Given the description of an element on the screen output the (x, y) to click on. 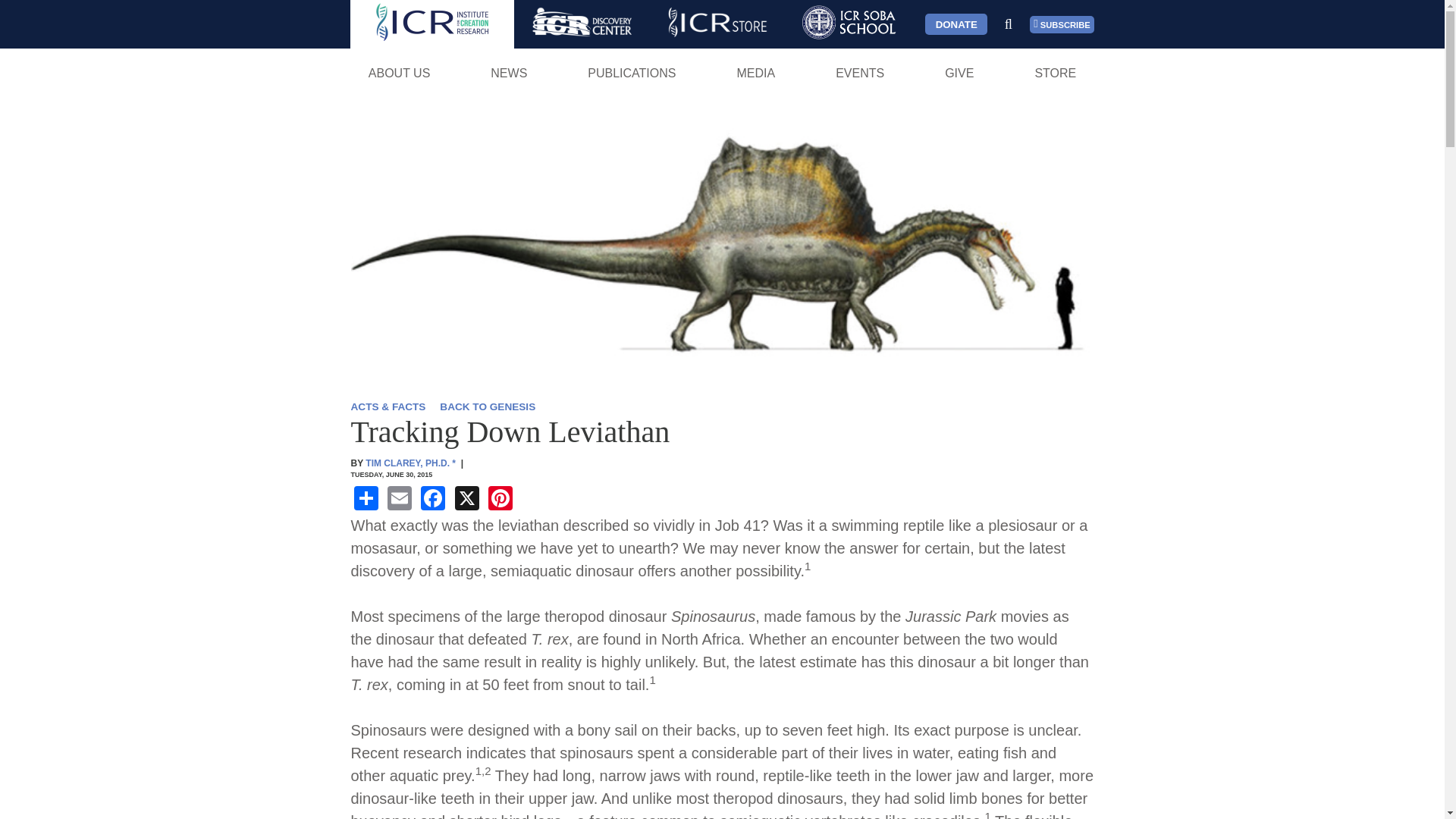
ABOUT US (399, 73)
PUBLICATIONS (631, 73)
SUBSCRIBE (1061, 24)
NEWS (508, 73)
DONATE (955, 24)
